Given the description of an element on the screen output the (x, y) to click on. 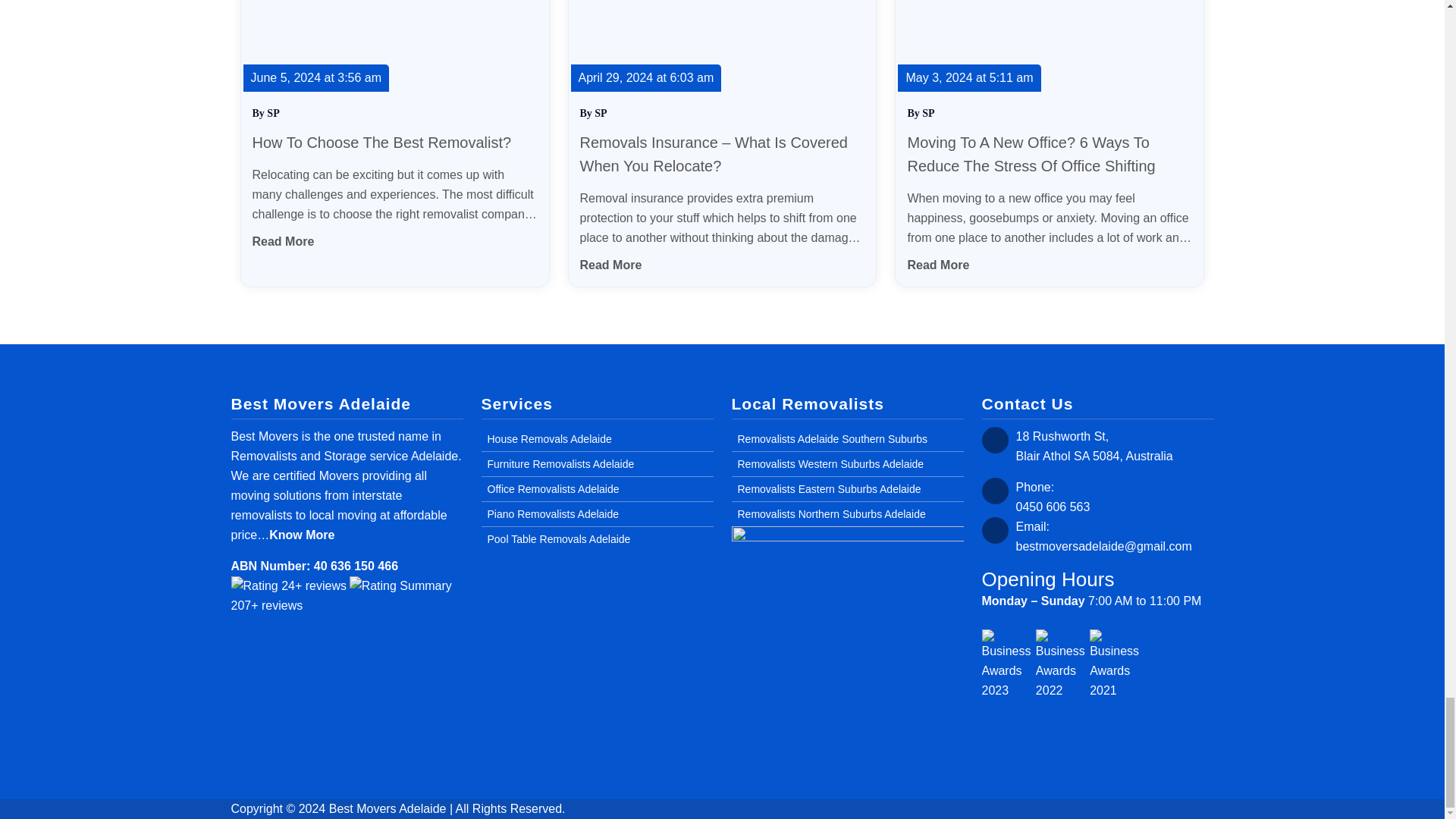
How To Choose The Best Removalist? (381, 142)
